Given the description of an element on the screen output the (x, y) to click on. 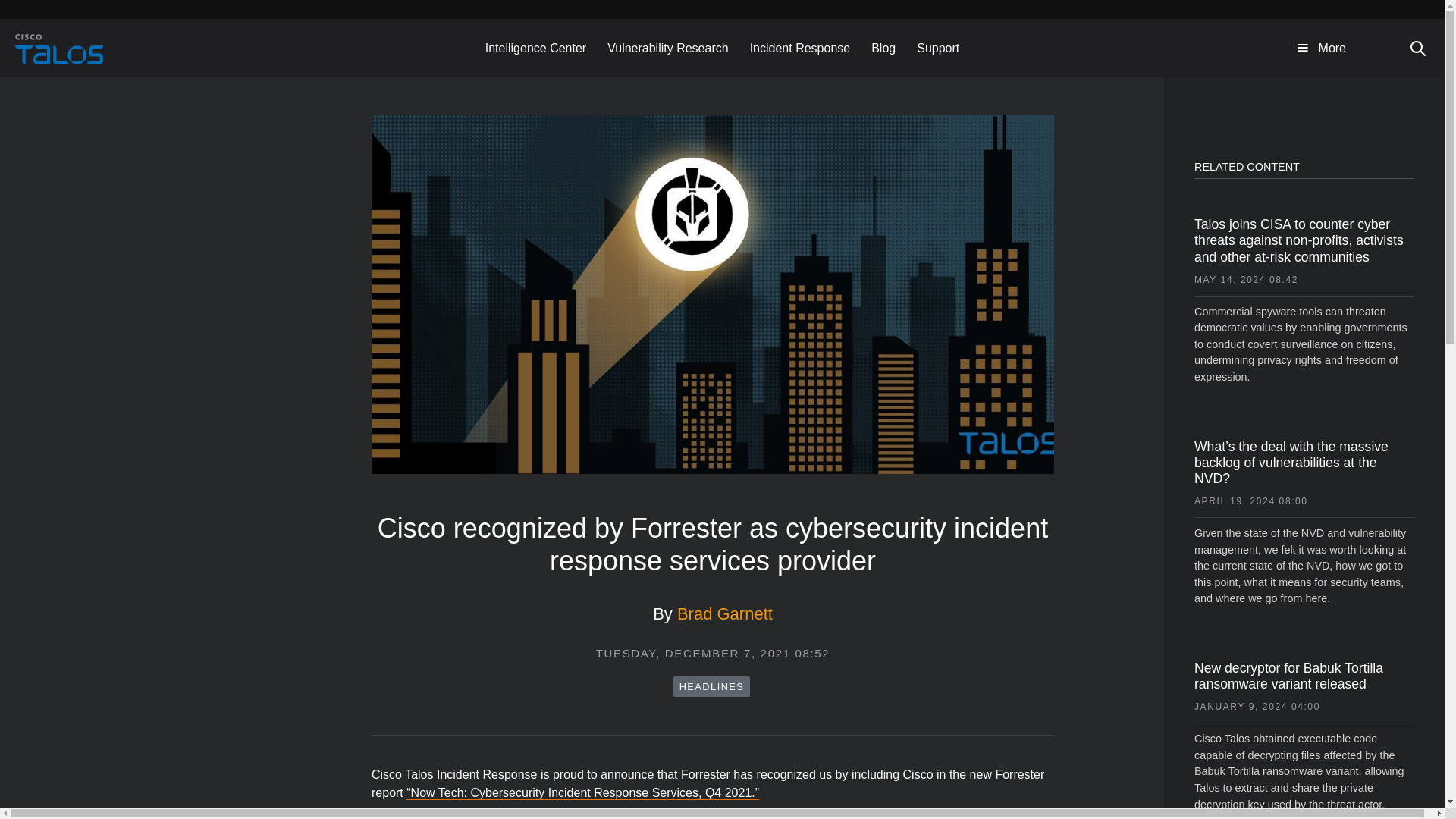
HEADLINES (711, 686)
Vulnerability Research (667, 47)
Intelligence Center (535, 47)
Brad Garnett (725, 613)
Support (937, 47)
Incident Response (800, 47)
